Given the description of an element on the screen output the (x, y) to click on. 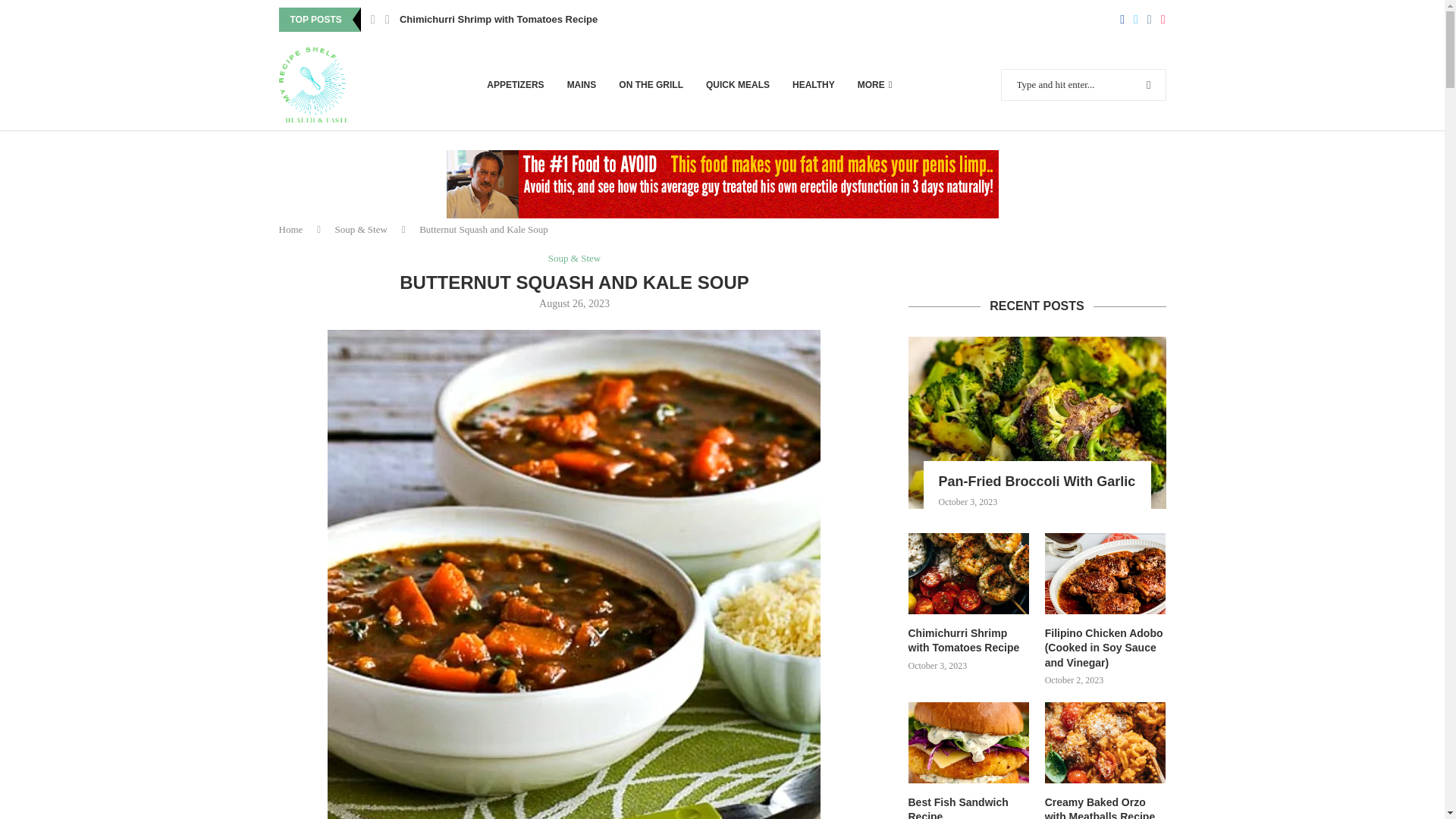
Chimichurri Shrimp with Tomatoes Recipe (497, 19)
Search (1117, 6)
